Given the description of an element on the screen output the (x, y) to click on. 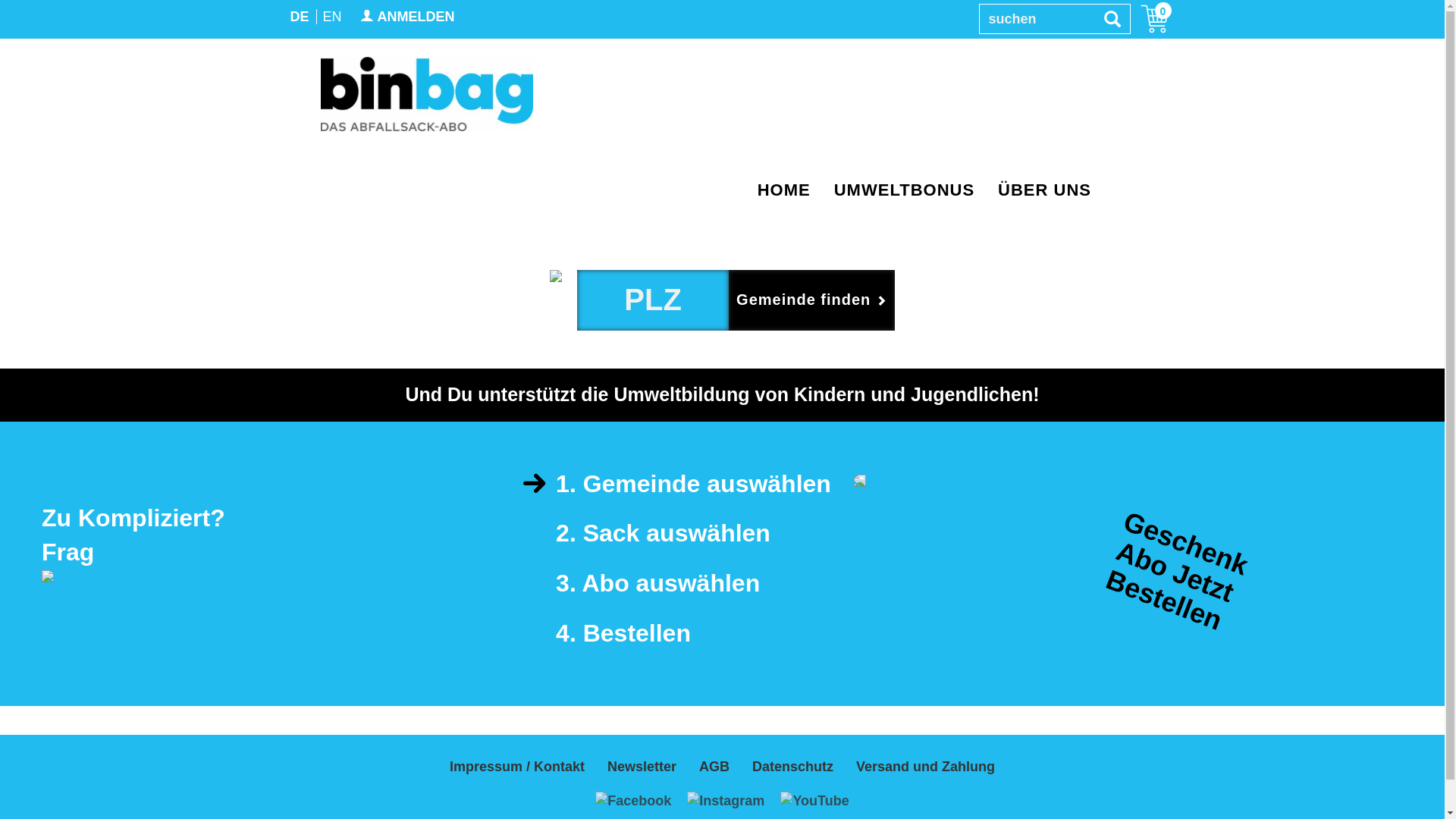
Zu Kompliziert?
Frag Element type: text (202, 543)
Datenschutz Element type: text (792, 766)
Gemeinde finden Element type: text (811, 299)
UMWELTBONUS Element type: text (904, 189)
EN Element type: text (330, 16)
0 Element type: text (1145, 18)
Impressum / Kontakt Element type: text (516, 766)
Newsletter Element type: text (641, 766)
DE Element type: text (300, 16)
Versand und Zahlung Element type: text (925, 766)
HOME Element type: text (784, 189)
AGB Element type: text (714, 766)
ANMELDEN Element type: text (407, 16)
